Given the description of an element on the screen output the (x, y) to click on. 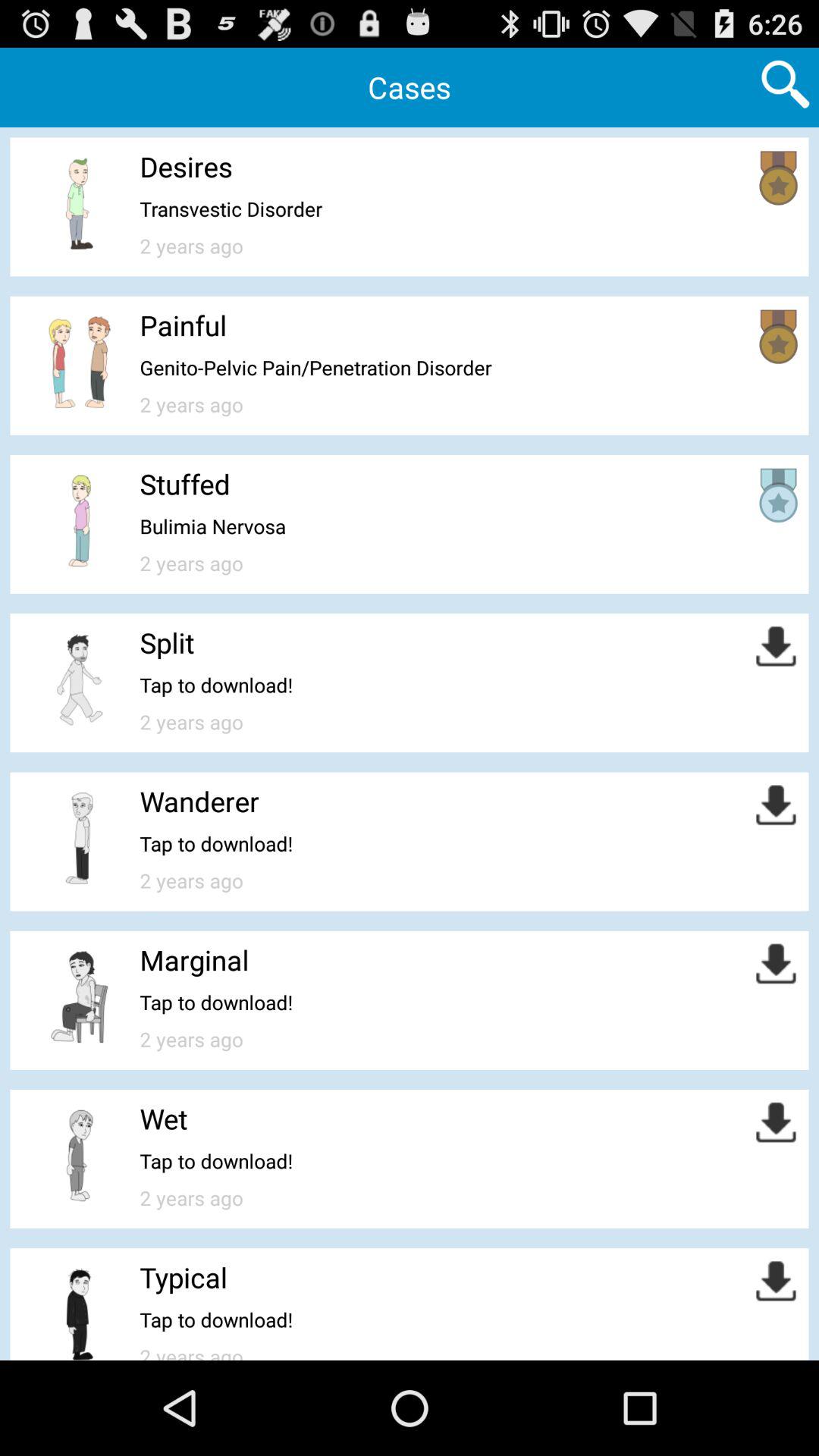
flip to the typical app (183, 1277)
